Given the description of an element on the screen output the (x, y) to click on. 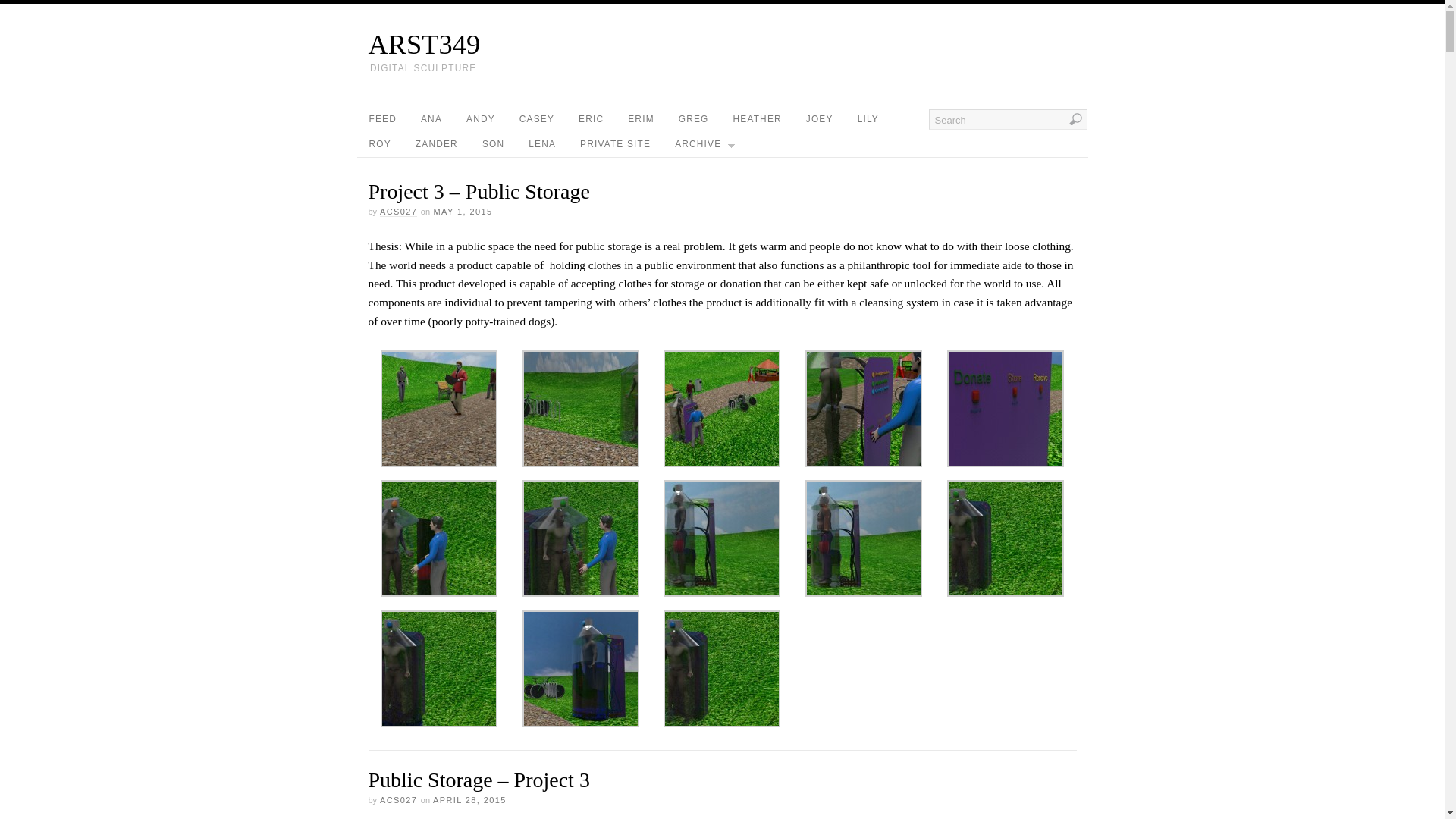
ZANDER (436, 144)
CASEY (536, 119)
Posts by acs027 (398, 212)
Search (1007, 118)
HEATHER (756, 119)
GREG (693, 119)
ANDY (480, 119)
JOEY (819, 119)
ROY (379, 144)
Posts by acs027 (398, 800)
